Given the description of an element on the screen output the (x, y) to click on. 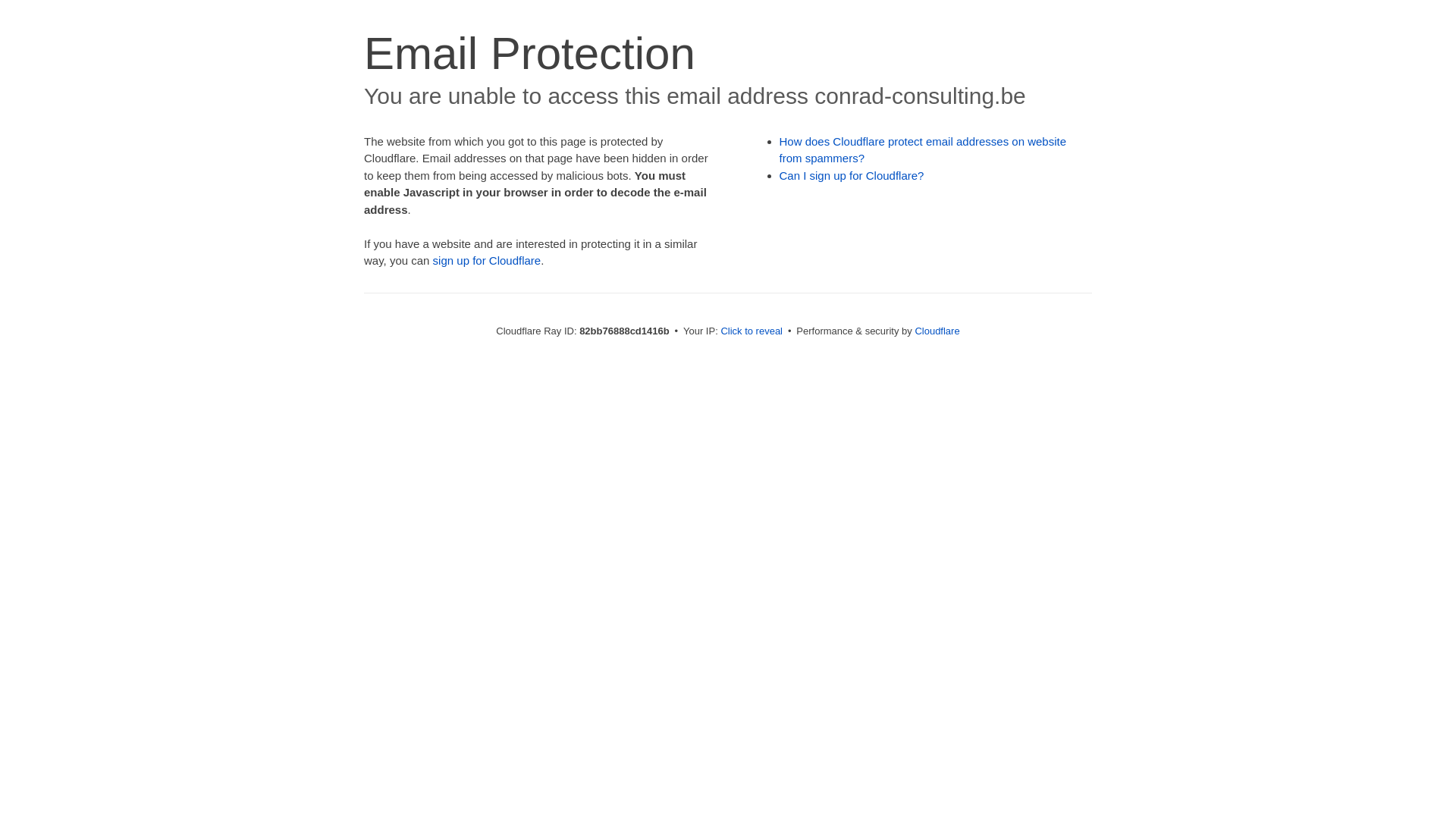
Click to reveal Element type: text (751, 330)
Cloudflare Element type: text (936, 330)
sign up for Cloudflare Element type: text (487, 260)
Can I sign up for Cloudflare? Element type: text (851, 175)
